Given the description of an element on the screen output the (x, y) to click on. 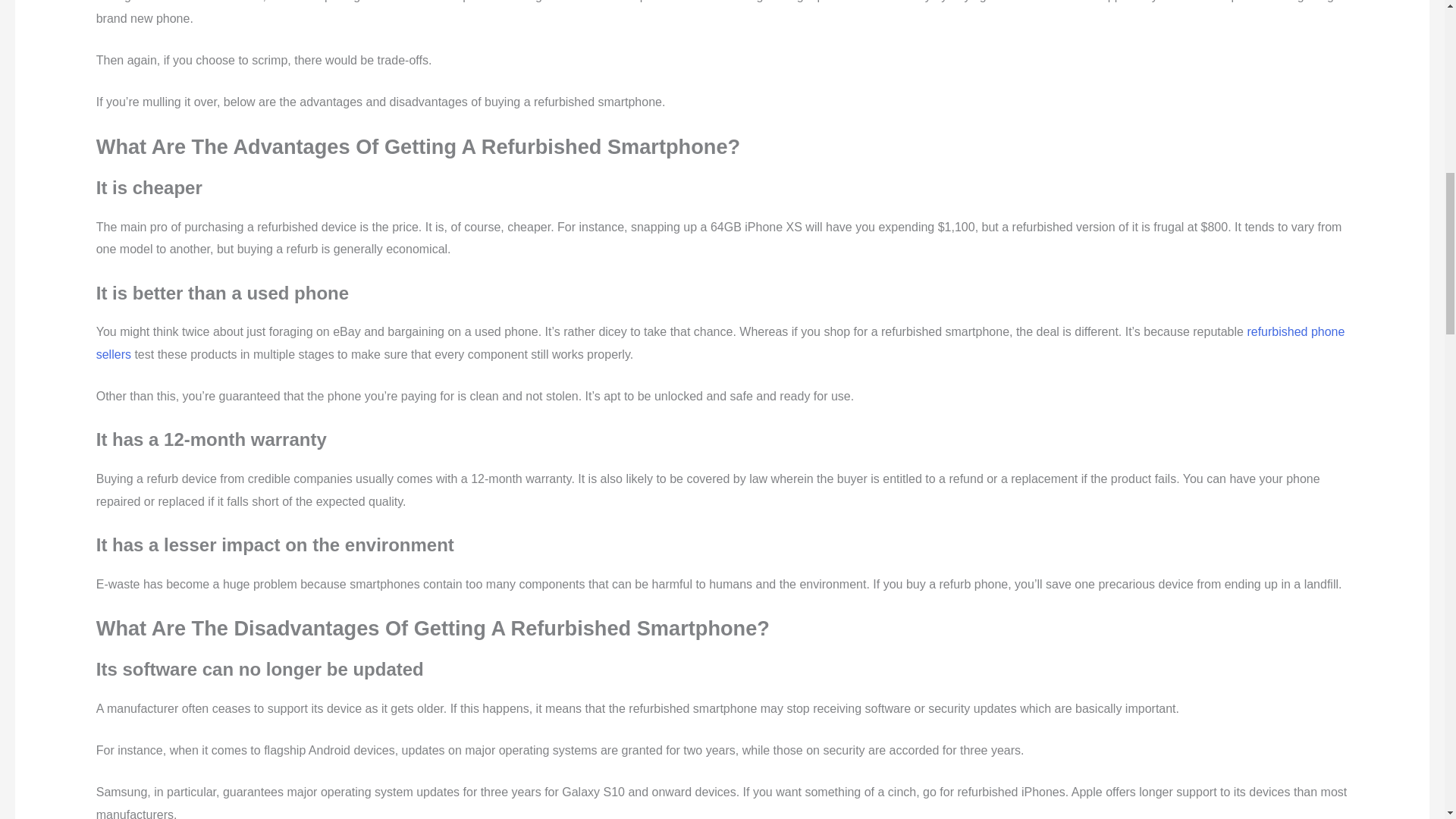
refurbished phone sellers (720, 343)
